Given the description of an element on the screen output the (x, y) to click on. 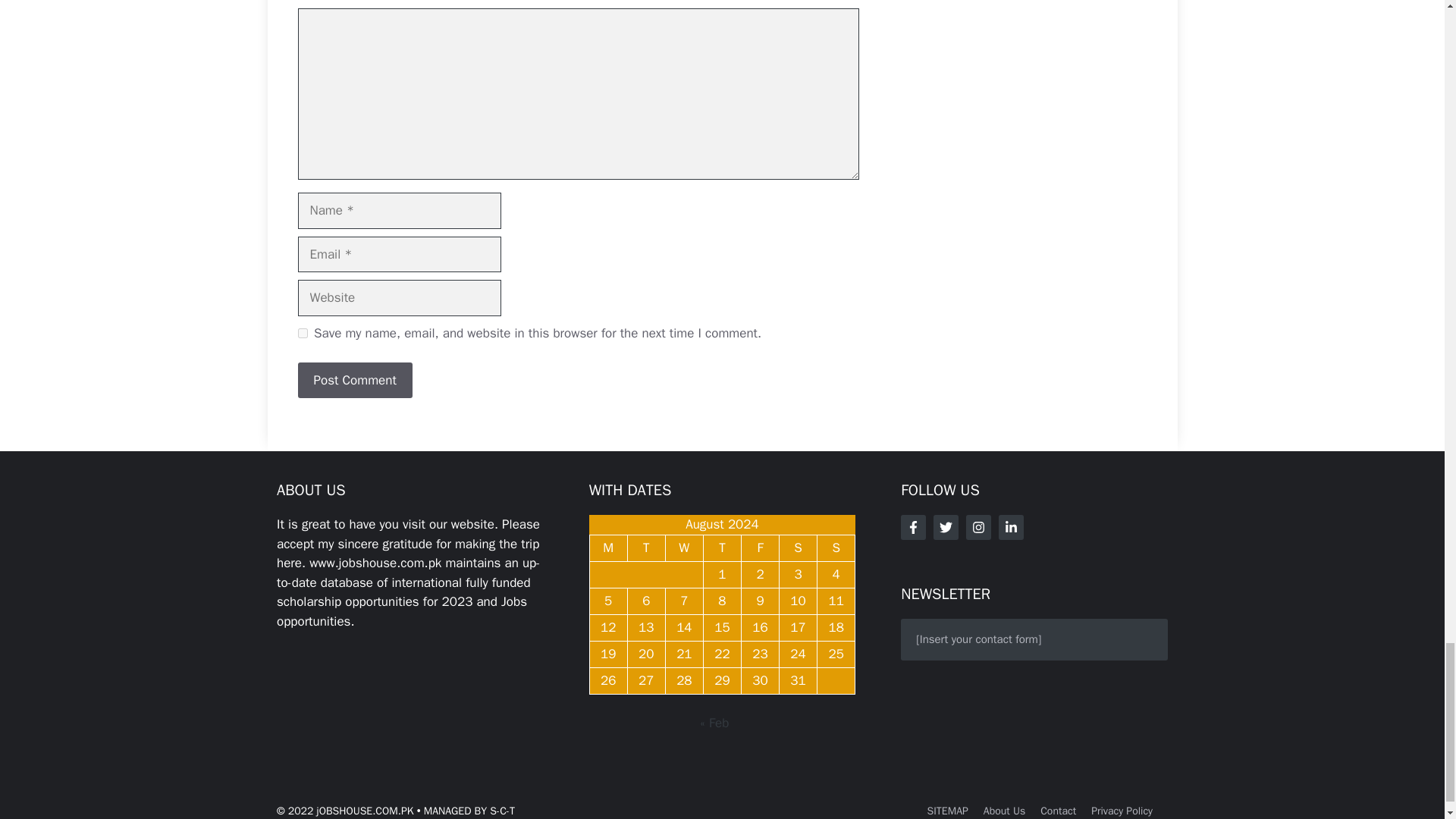
Friday (759, 547)
Post Comment (354, 380)
Tuesday (646, 547)
Wednesday (684, 547)
yes (302, 333)
Monday (608, 547)
Thursday (722, 547)
Saturday (797, 547)
Post Comment (354, 380)
Sunday (836, 547)
